Given the description of an element on the screen output the (x, y) to click on. 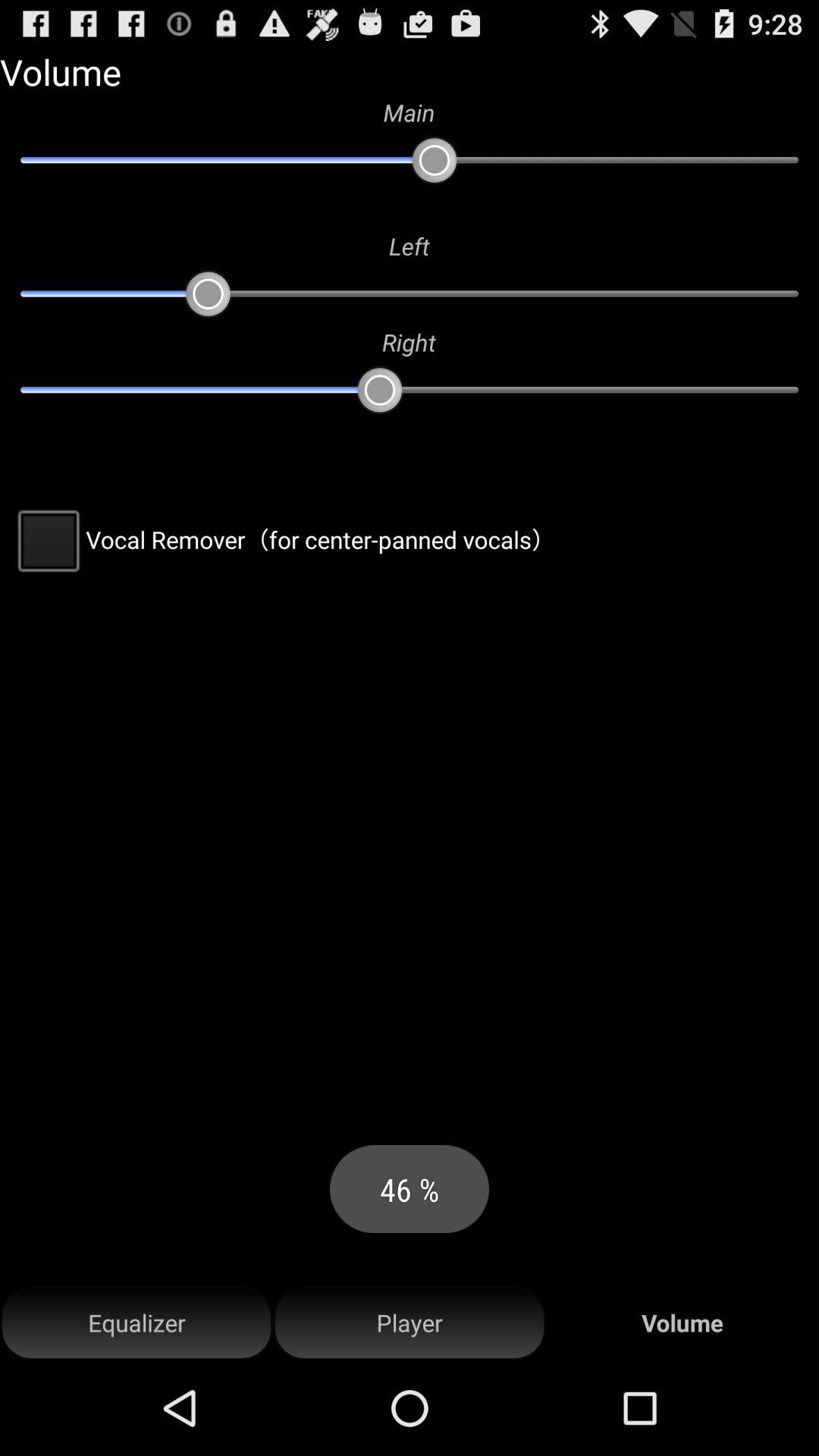
select the icon to the right of the equalizer item (409, 1323)
